Given the description of an element on the screen output the (x, y) to click on. 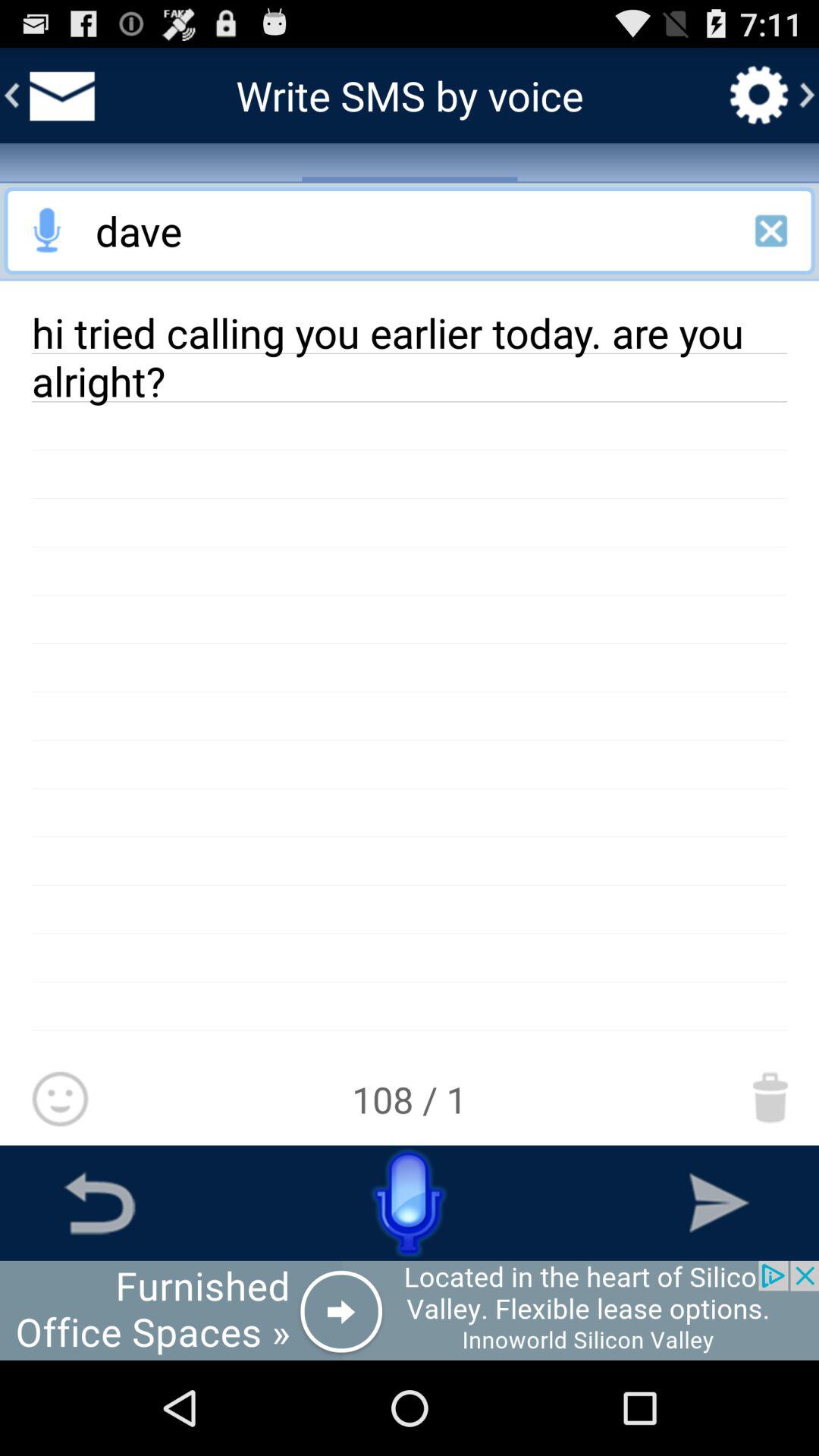
enter speech (409, 1202)
